Given the description of an element on the screen output the (x, y) to click on. 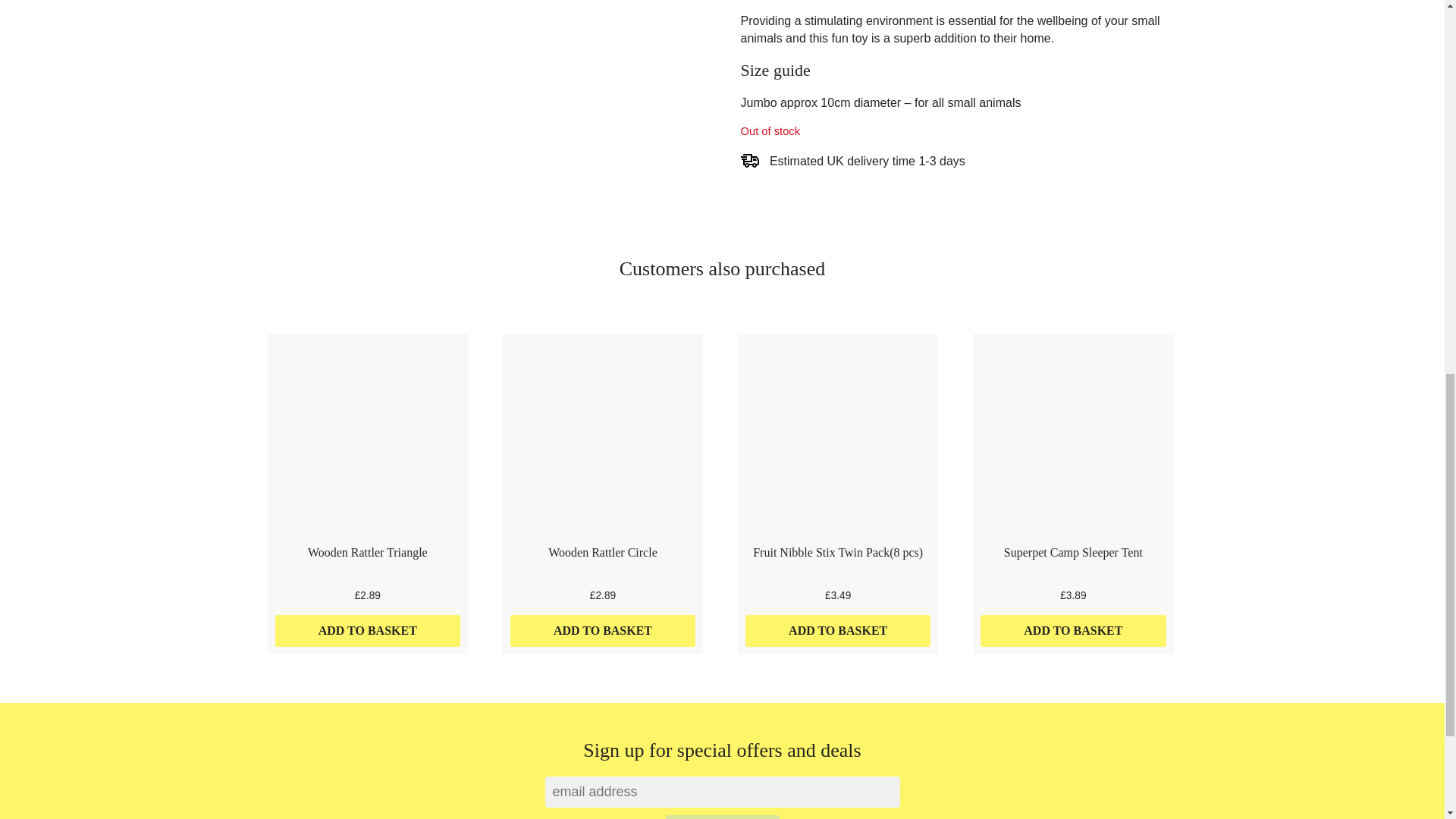
ADD TO BASKET (1072, 631)
ADD TO BASKET (367, 631)
Subscribe (721, 816)
Subscribe (721, 816)
ADD TO BASKET (603, 631)
ADD TO BASKET (838, 631)
